Given the description of an element on the screen output the (x, y) to click on. 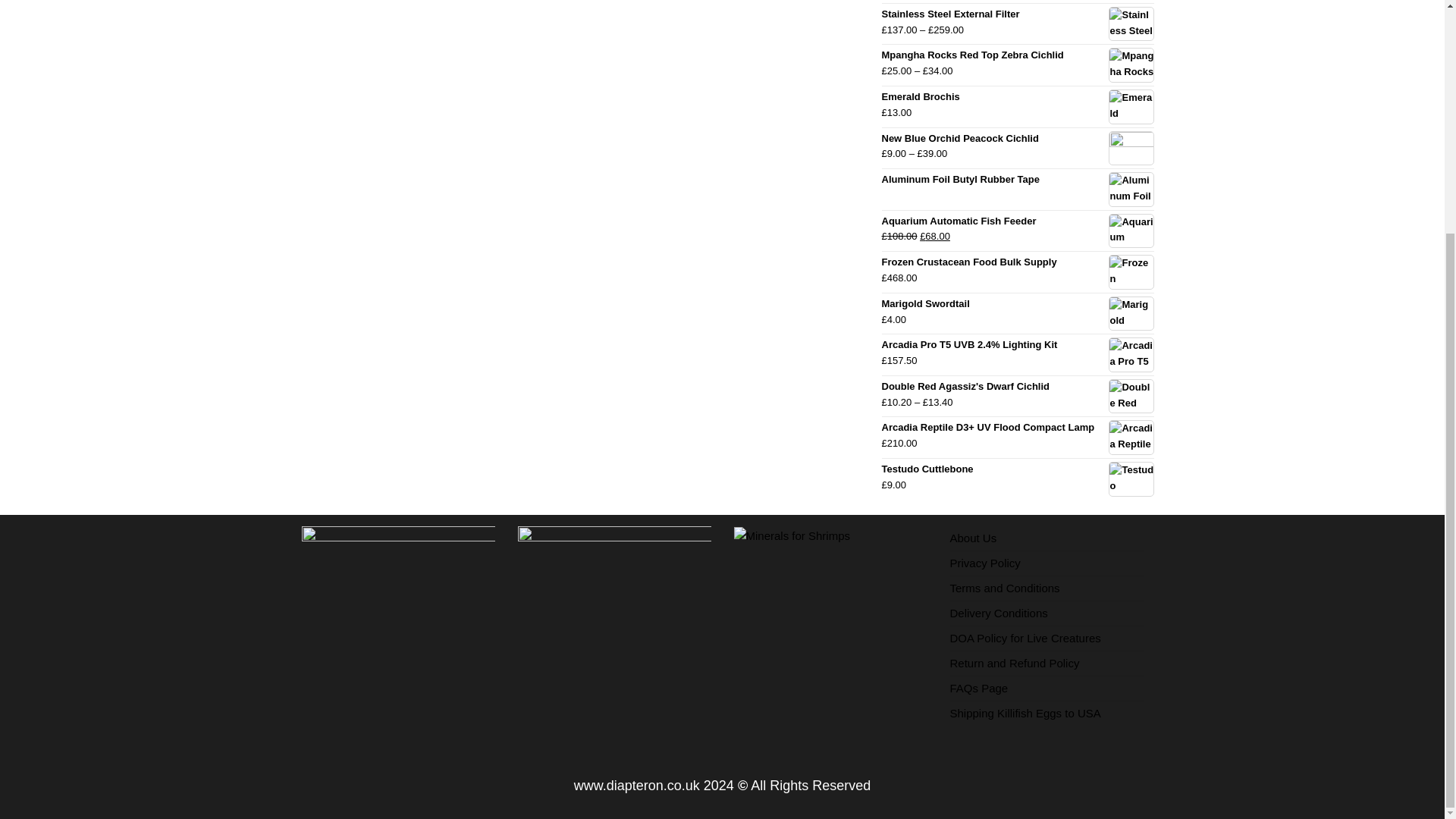
Frozen Crustacean Food Bulk Supply (1017, 262)
FAQs Page (978, 687)
Privacy Policy (984, 562)
DOA Policy for Live Creatures (1024, 637)
New Blue Orchid Peacock Cichlid (1017, 138)
Emerald Brochis (1017, 97)
Testudo Cuttlebone (1017, 469)
Return and Refund Policy (1013, 662)
Mpangha Rocks Red Top Zebra Cichlid (1017, 55)
About Us (972, 537)
Terms and Conditions (1004, 587)
Double Red Agassiz's Dwarf Cichlid (1017, 386)
Marigold Swordtail (1017, 304)
Stainless Steel External Filter (1017, 14)
Aquarium Automatic Fish Feeder (1017, 221)
